Given the description of an element on the screen output the (x, y) to click on. 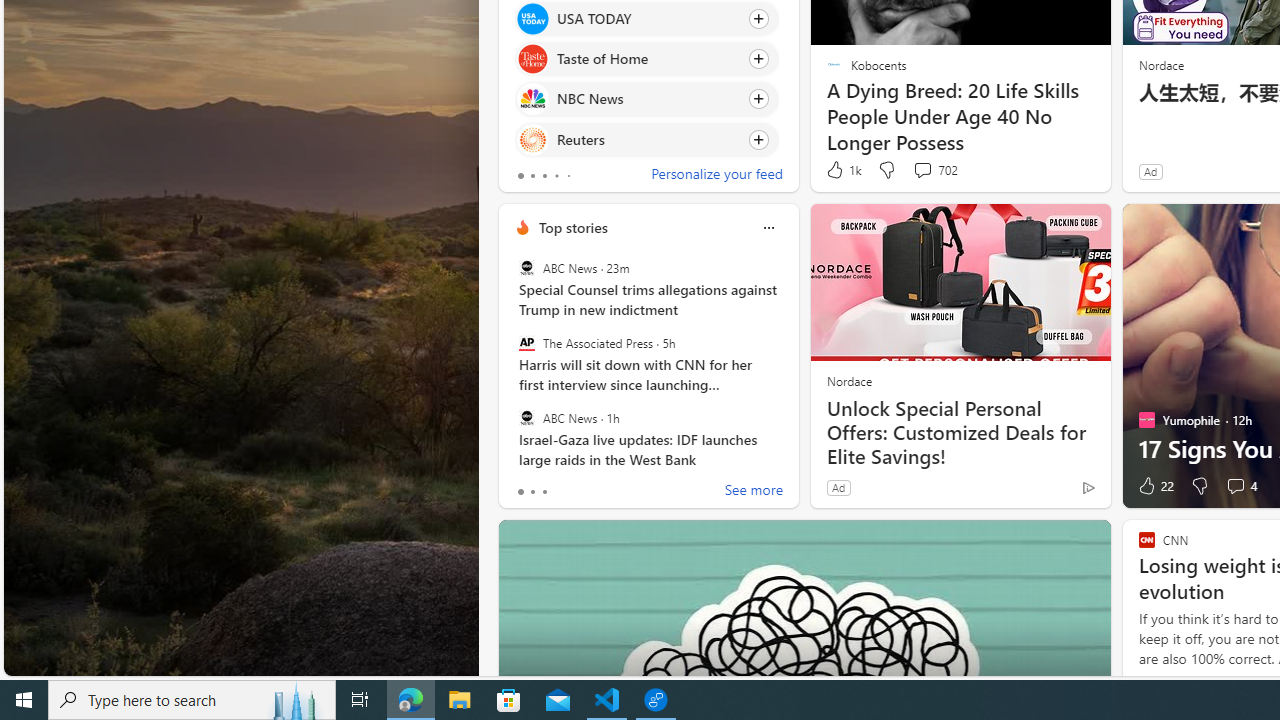
The Associated Press (526, 343)
tab-0 (520, 491)
Click to follow source USA TODAY (646, 18)
View comments 702 Comment (922, 169)
Click to follow source Reuters (646, 138)
Click to follow source NBC News (646, 99)
ABC News (526, 417)
NBC News (532, 98)
